Given the description of an element on the screen output the (x, y) to click on. 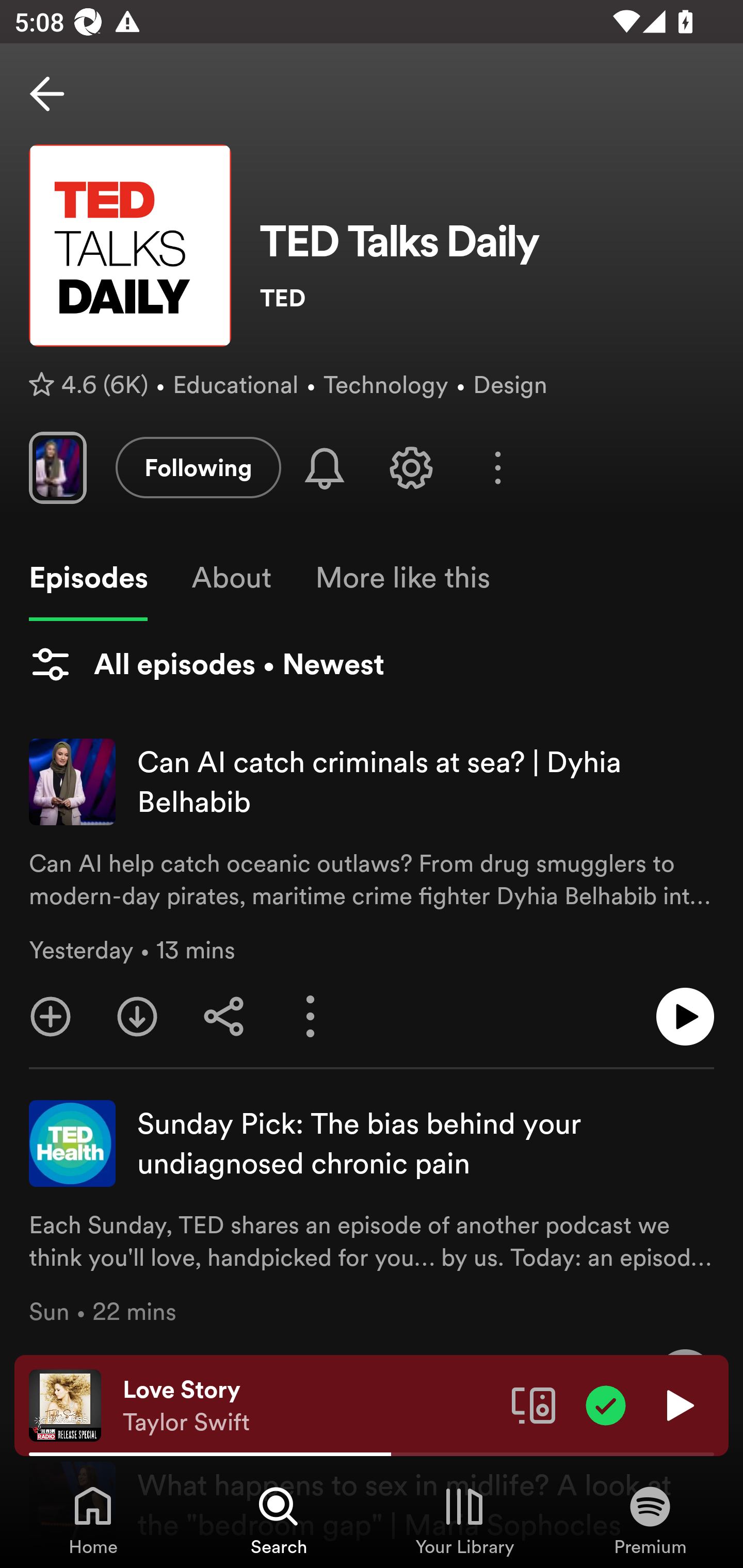
Back (46, 93)
TED (487, 297)
Following Unfollow this show (197, 466)
Settings for this Show. (410, 467)
More options for show TED Talks Daily (497, 467)
About (231, 577)
More like this (402, 577)
All episodes • Newest (206, 663)
Share (223, 1016)
Love Story Taylor Swift (309, 1405)
The cover art of the currently playing track (64, 1404)
Connect to a device. Opens the devices menu (533, 1404)
Item added (605, 1404)
Play (677, 1404)
Home, Tab 1 of 4 Home Home (92, 1519)
Search, Tab 2 of 4 Search Search (278, 1519)
Your Library, Tab 3 of 4 Your Library Your Library (464, 1519)
Premium, Tab 4 of 4 Premium Premium (650, 1519)
